Given the description of an element on the screen output the (x, y) to click on. 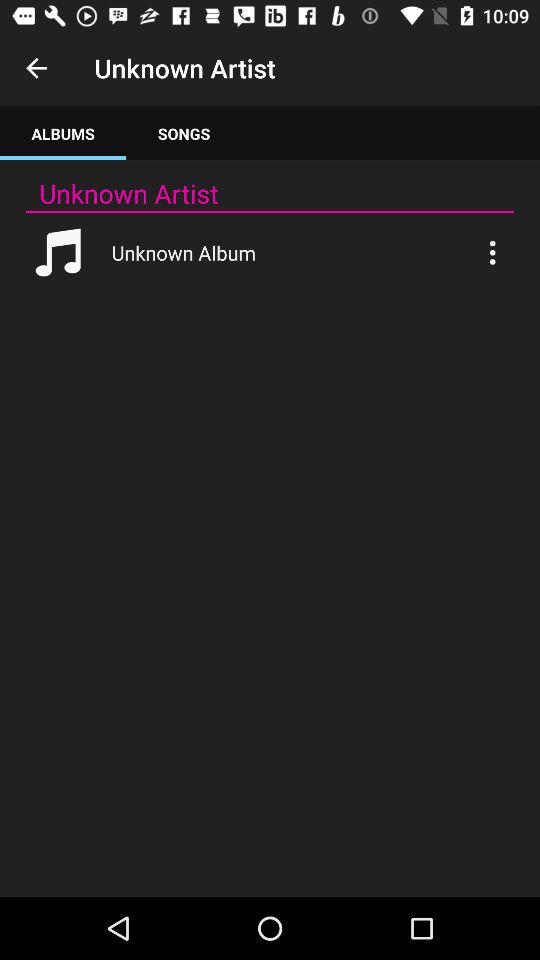
select item to the left of unknown artist (36, 68)
